Given the description of an element on the screen output the (x, y) to click on. 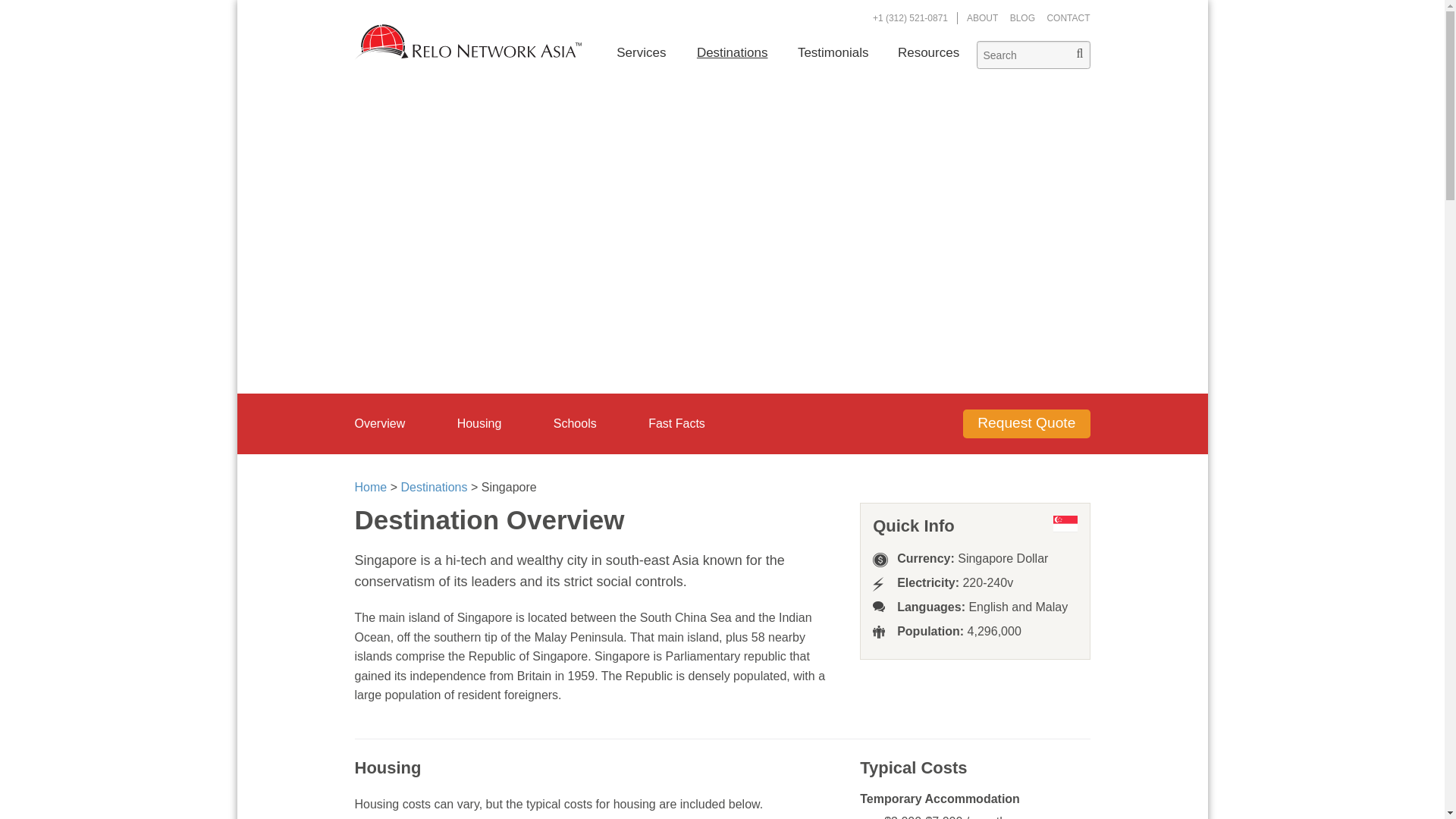
BLOG (1022, 18)
Relo Network Asia (468, 41)
Go to Destinations. (433, 486)
CONTACT (1067, 18)
ABOUT (981, 18)
Relo Network Asia (468, 41)
Go to Relo Network Asia. (371, 486)
